Given the description of an element on the screen output the (x, y) to click on. 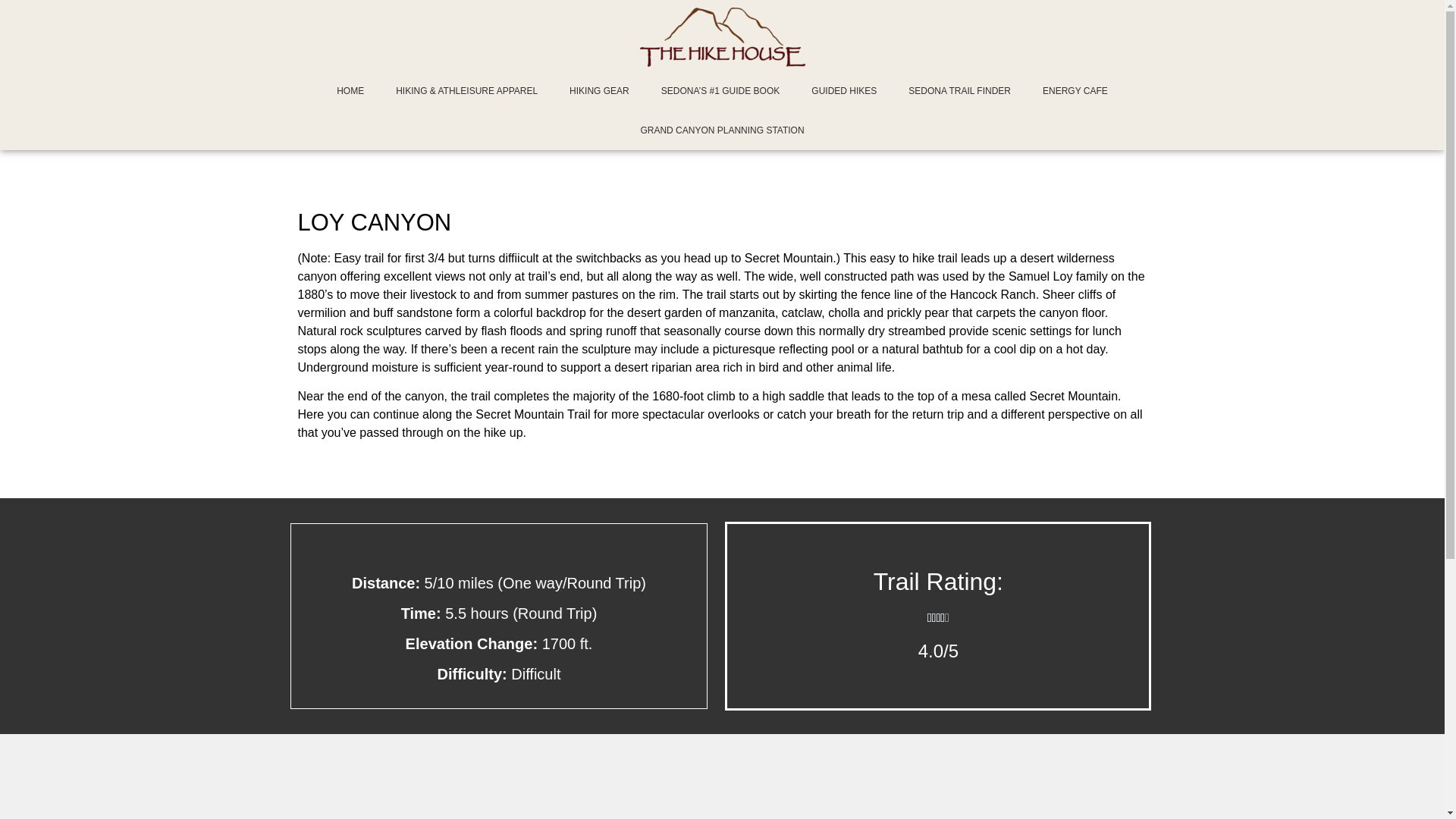
ENERGY CAFE (1075, 90)
SEDONA TRAIL FINDER (959, 90)
HIKING GEAR (599, 90)
GUIDED HIKES (843, 90)
HOME (350, 90)
GRAND CANYON PLANNING STATION (721, 129)
